Given the description of an element on the screen output the (x, y) to click on. 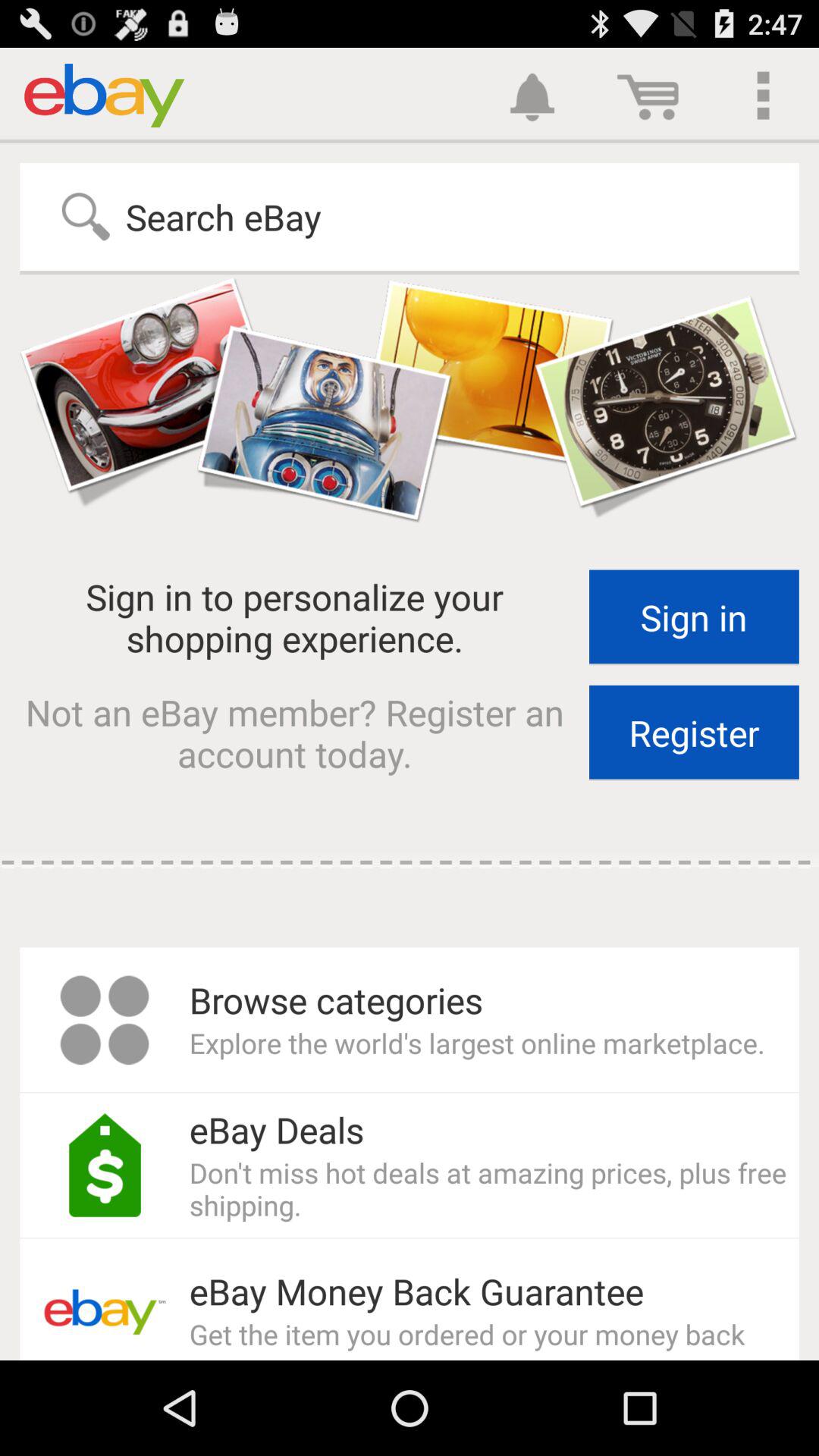
flip until the search ebay item (186, 216)
